Given the description of an element on the screen output the (x, y) to click on. 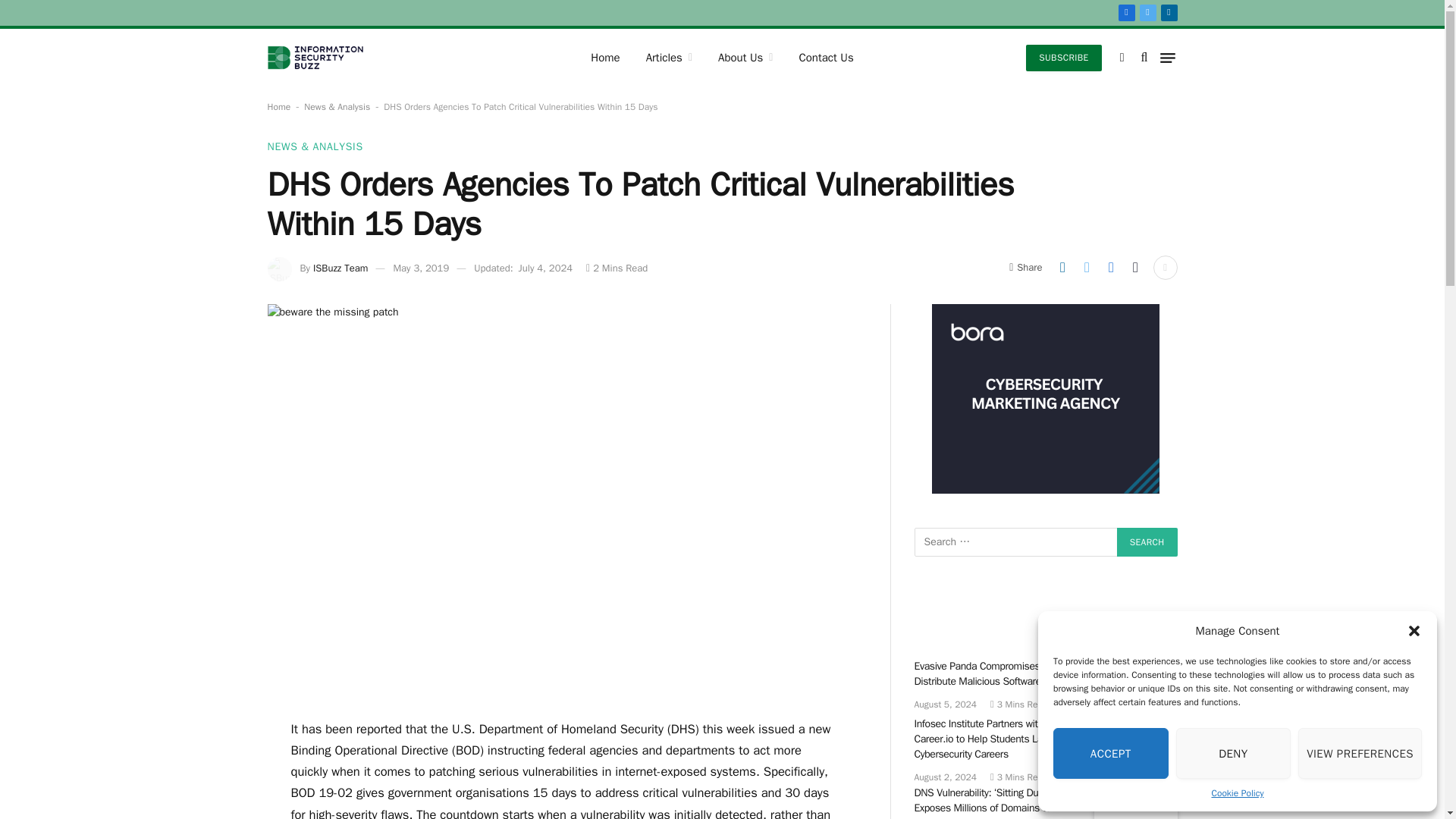
Share on Facebook (1110, 267)
ACCEPT (1110, 753)
DENY (1233, 753)
Search (1146, 541)
Switch to Dark Design - easier on eyes. (1122, 57)
Copy Link (1135, 267)
Show More Social Sharing (1164, 267)
Posts by ISBuzz Team (340, 267)
Information Security Buzz (314, 57)
VIEW PREFERENCES (1360, 753)
Search (1146, 541)
Cookie Policy (1237, 793)
Share on LinkedIn (1062, 267)
